Given the description of an element on the screen output the (x, y) to click on. 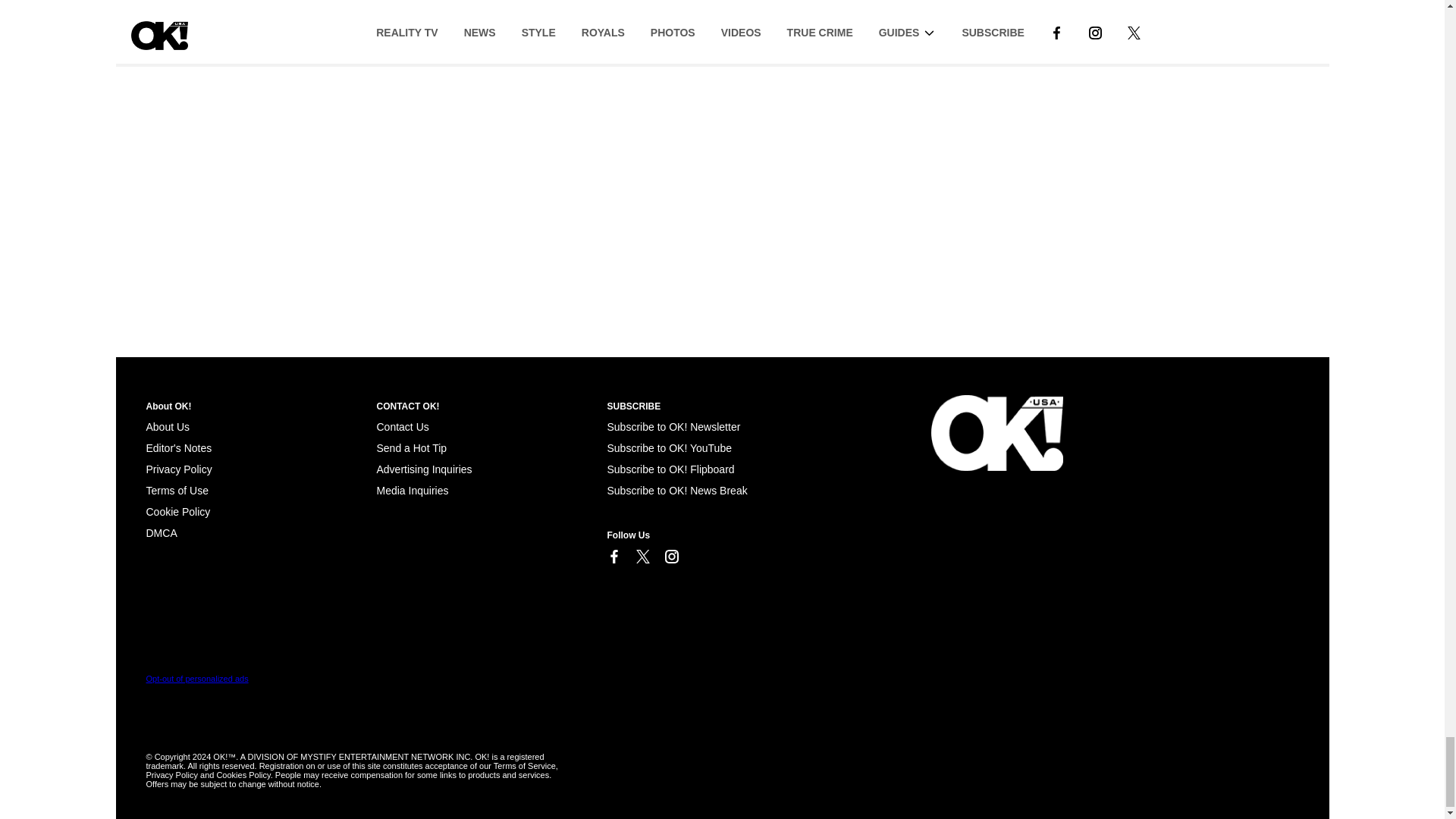
Cookie Policy (160, 532)
Link to Facebook (613, 556)
Link to X (641, 556)
Terms of Use (176, 490)
Contact Us (401, 426)
About Us (167, 426)
Editor's Notes (178, 448)
Link to Instagram (670, 556)
Send a Hot Tip (410, 448)
Cookie Policy (177, 511)
Privacy Policy (178, 469)
